Given the description of an element on the screen output the (x, y) to click on. 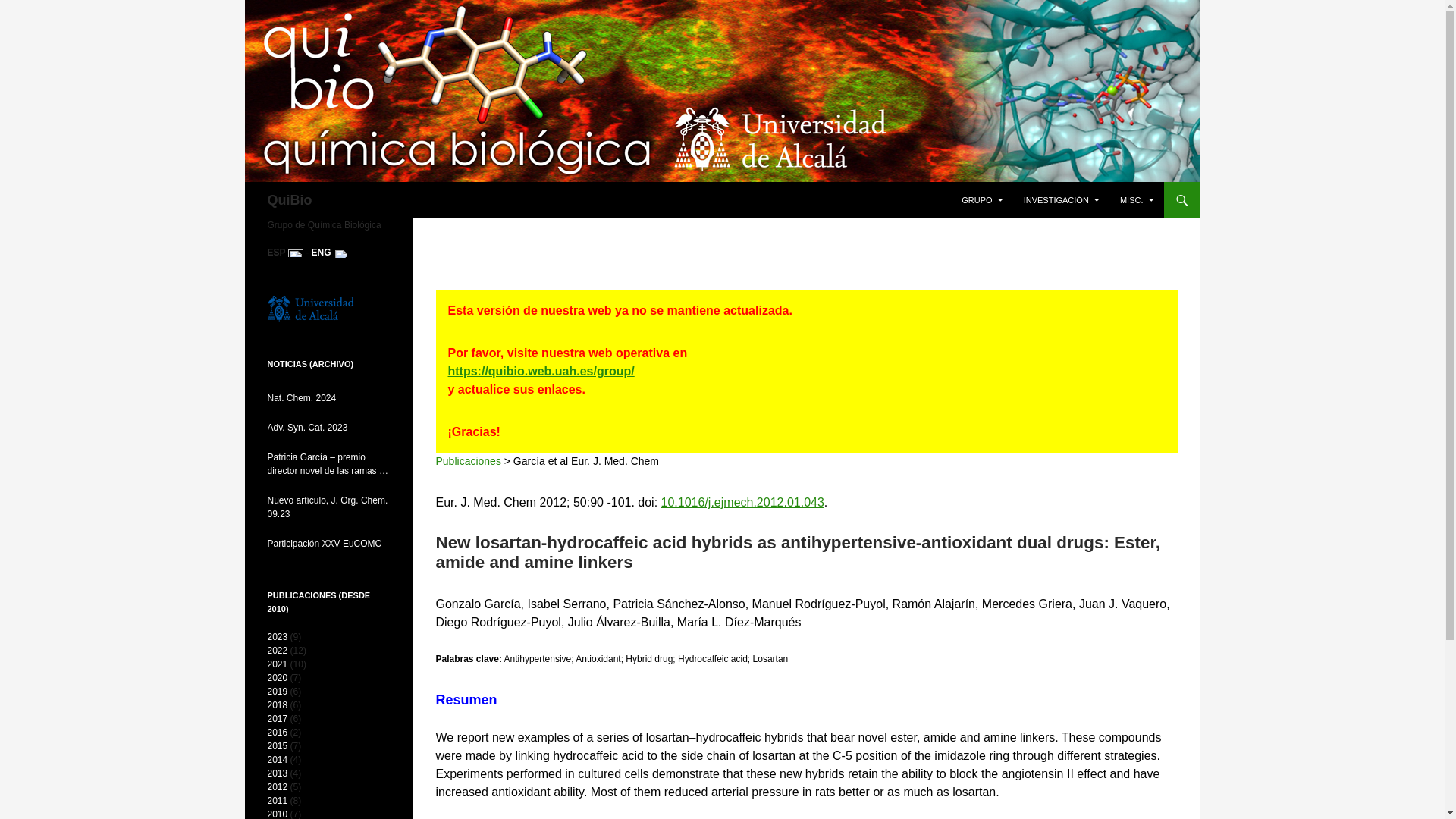
QuiBio (288, 199)
Nat. Chem. 2024 (328, 397)
GRUPO (981, 199)
ENG (321, 252)
MISC. (1136, 199)
Publicaciones (467, 460)
Adv. Syn. Cat. 2023 (328, 427)
